Given the description of an element on the screen output the (x, y) to click on. 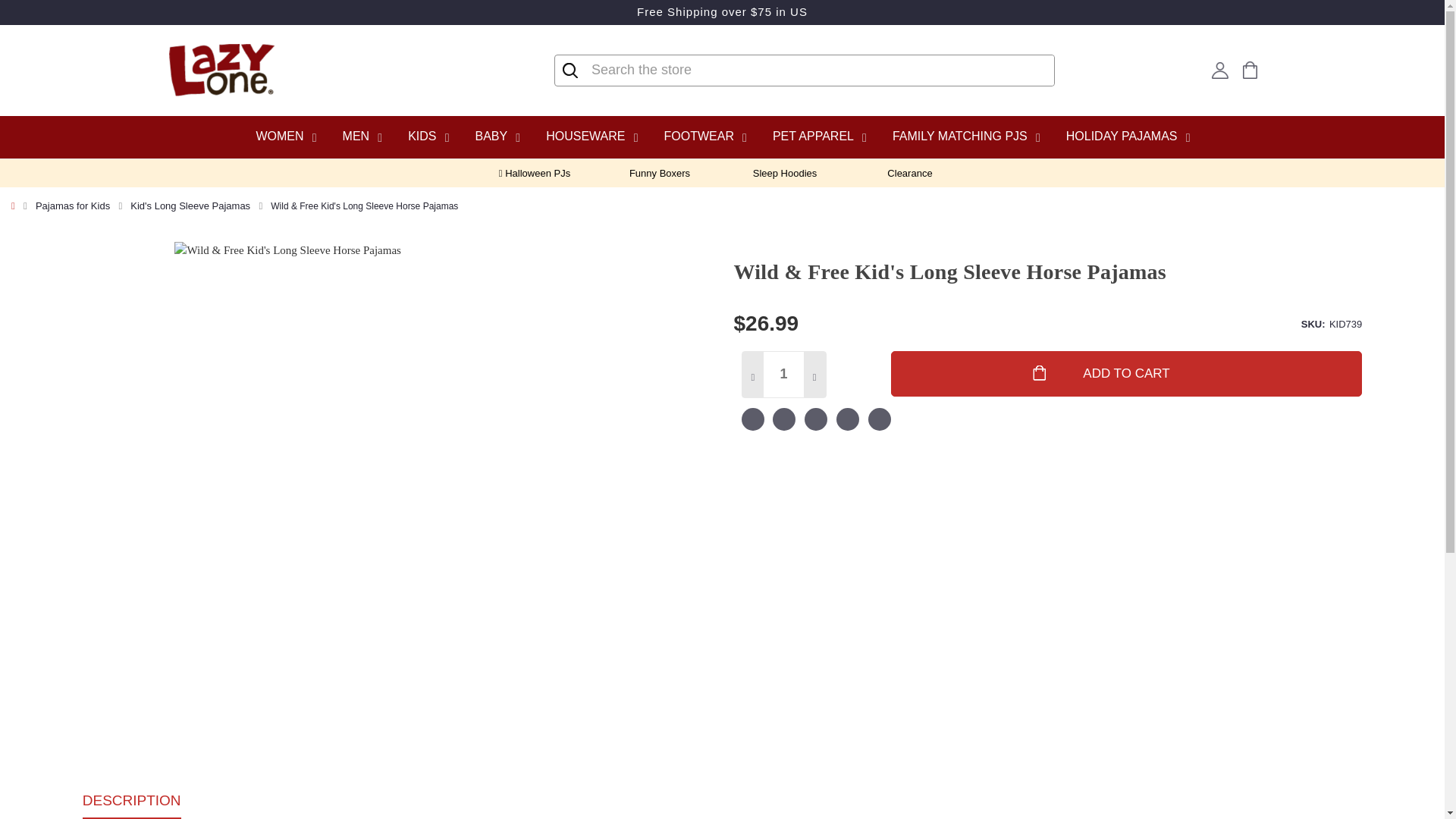
Email (784, 421)
Twitter (848, 421)
BABY (496, 135)
Add to Cart (1126, 373)
KIDS (427, 135)
WOMEN (284, 135)
MEN (361, 135)
Print (816, 421)
Pinterest (878, 421)
Facebook (752, 421)
